Given the description of an element on the screen output the (x, y) to click on. 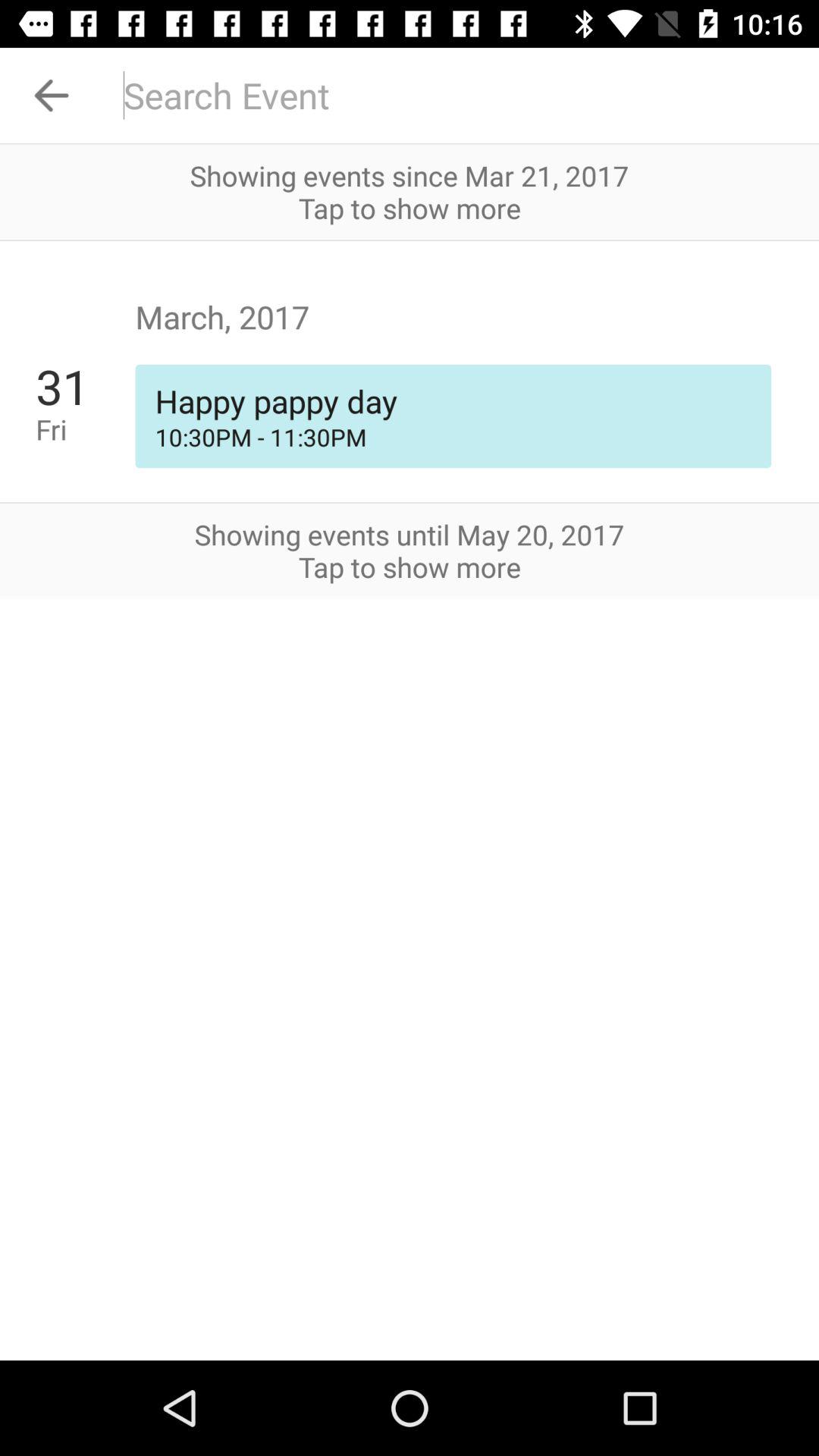
tap the icon next to happy pappy day (85, 386)
